Given the description of an element on the screen output the (x, y) to click on. 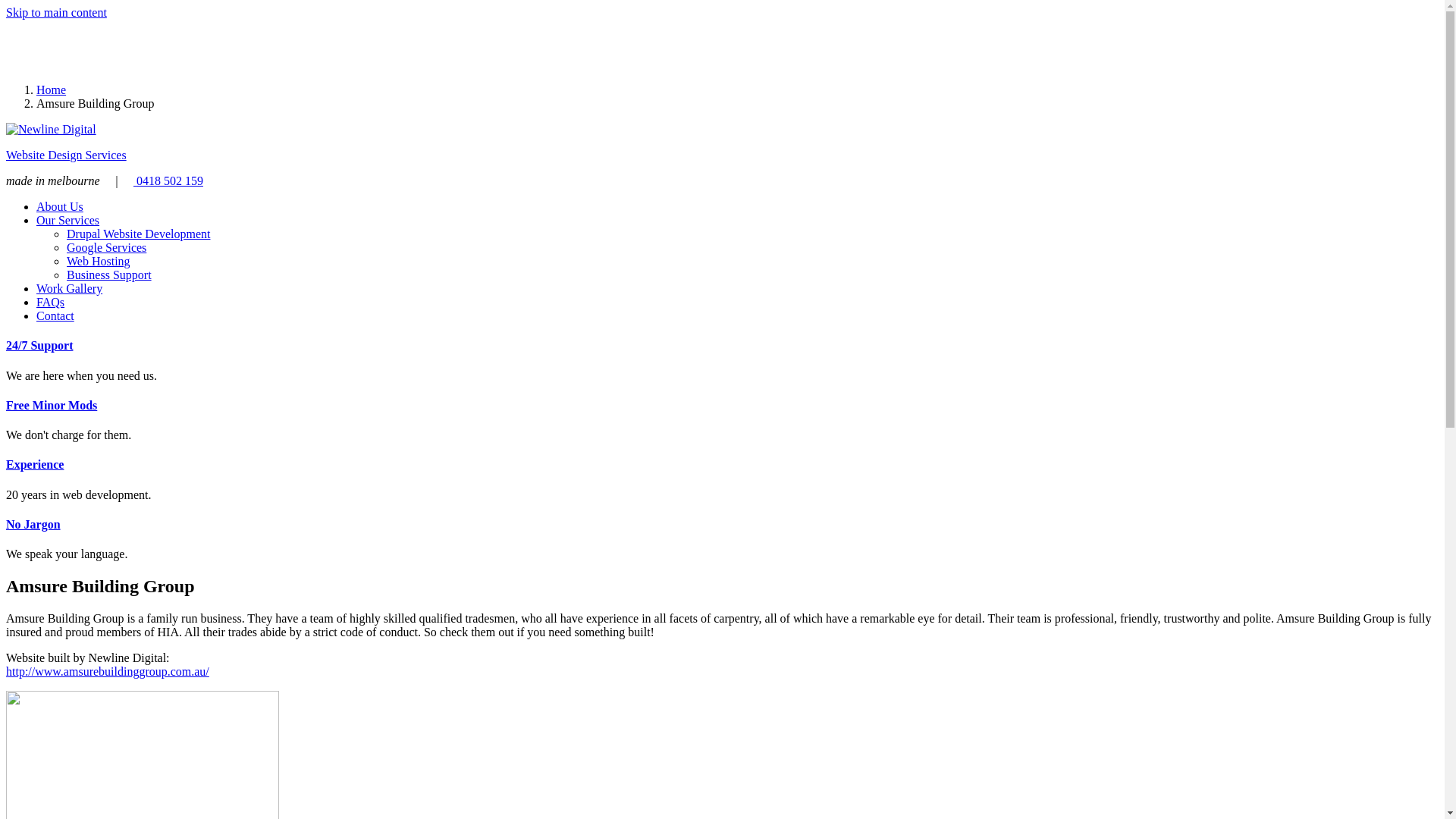
Contact Element type: text (55, 315)
24/7 Support Element type: text (39, 344)
Free Minor Mods Element type: text (51, 404)
 0418 502 159 Element type: text (168, 180)
About Us Element type: text (59, 206)
Work Gallery Element type: text (69, 288)
Our Services Element type: text (67, 219)
Web Hosting Element type: text (98, 260)
Skip to main content Element type: text (56, 12)
Drupal Website Development Element type: text (138, 233)
Google Services Element type: text (106, 247)
Website Design Services Element type: text (66, 154)
No Jargon Element type: text (33, 523)
Newline Digital Element type: hover (51, 129)
Home Element type: text (50, 89)
Business Support Element type: text (108, 274)
http://www.amsurebuildinggroup.com.au/ Element type: text (107, 671)
Experience Element type: text (34, 464)
FAQs Element type: text (50, 301)
